Given the description of an element on the screen output the (x, y) to click on. 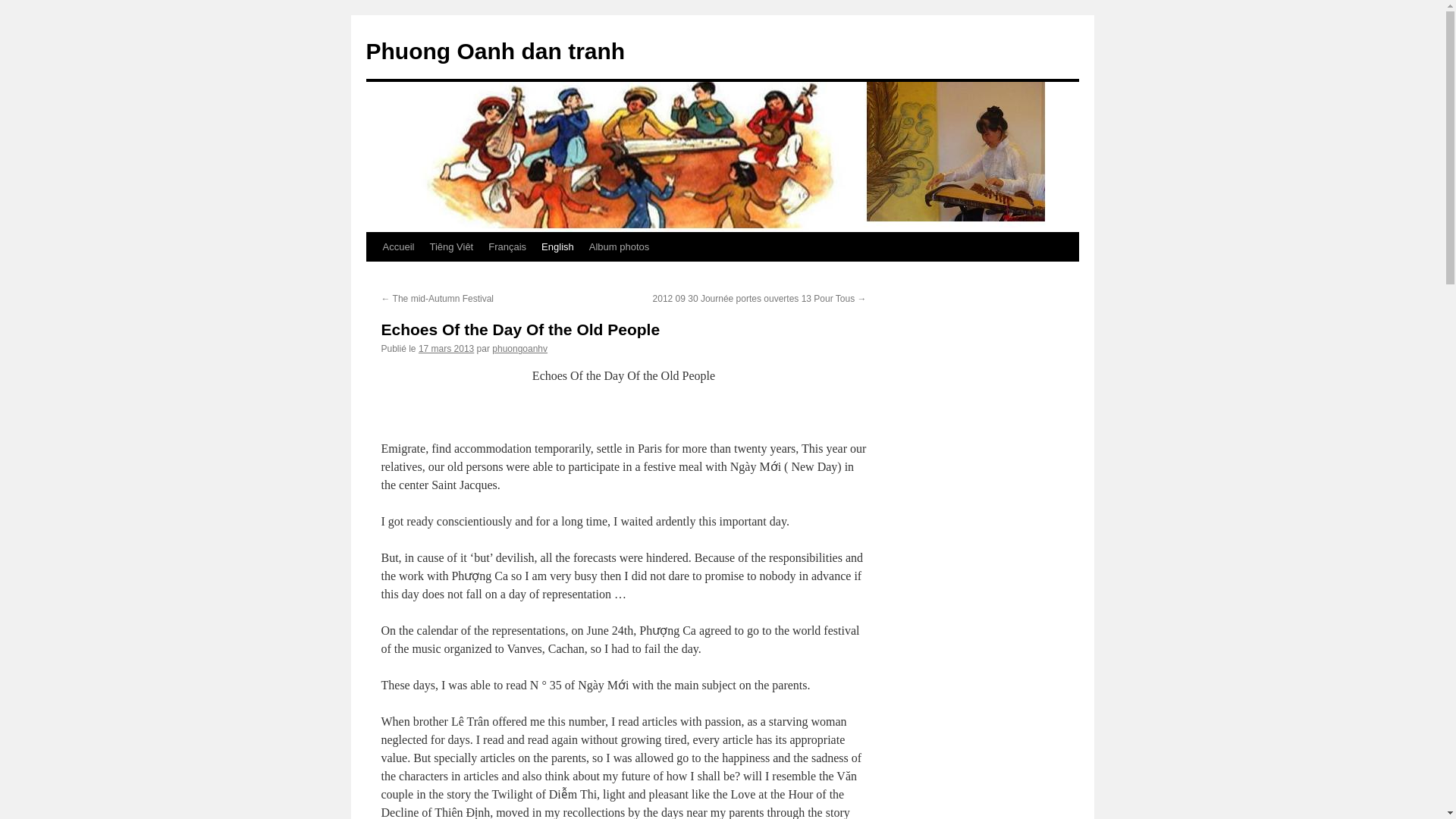
English (557, 246)
Phuong Oanh dan tranh (494, 50)
phuongoanhv (519, 348)
Accueil (398, 246)
23 h 08 min (446, 348)
Phuong Oanh dan tranh (494, 50)
Album photos (619, 246)
Afficher tous les articles par phuongoanhv (519, 348)
17 mars 2013 (446, 348)
